Given the description of an element on the screen output the (x, y) to click on. 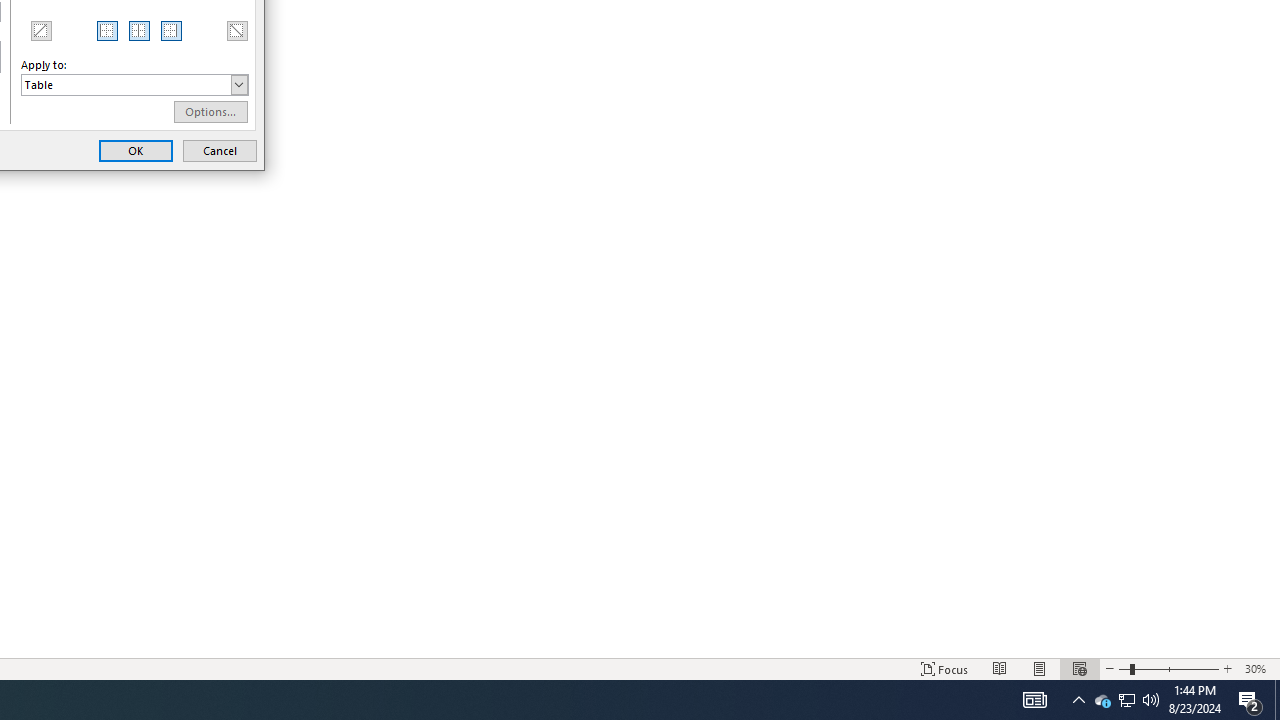
OK (136, 150)
Notification Chevron (1078, 699)
Q2790: 100% (1151, 699)
Cancel (219, 150)
Options... (210, 111)
Right Border (171, 30)
Zoom In (1227, 668)
AutomationID: 4105 (1034, 699)
Zoom (1168, 668)
Inside Vertical Border (139, 30)
Focus  (944, 668)
